Given the description of an element on the screen output the (x, y) to click on. 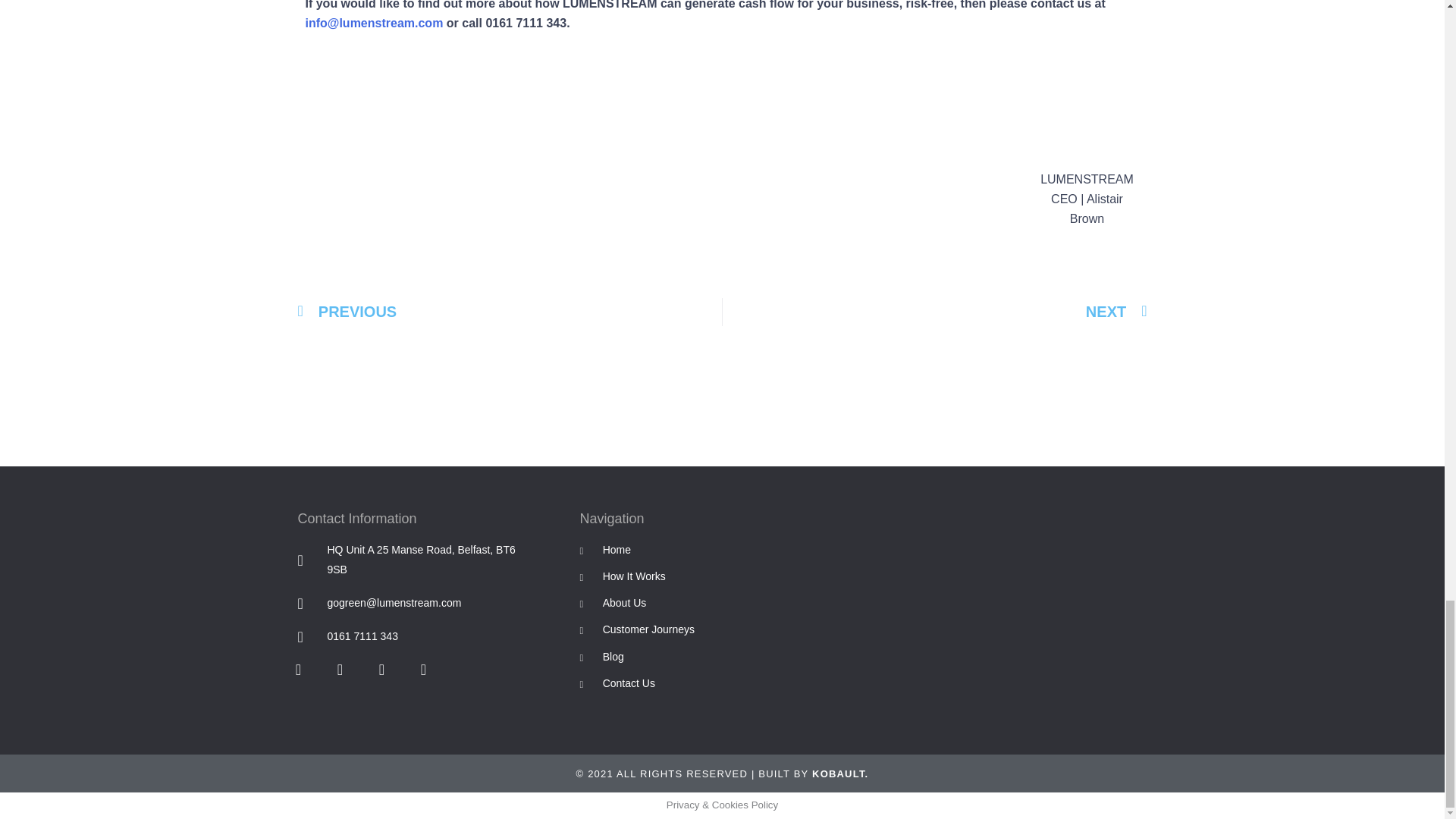
PREVIOUS (509, 311)
0161 7111 343 (417, 637)
How It Works (639, 577)
Contact Us (639, 683)
Customer Journeys (639, 629)
About Us (639, 603)
Blog (639, 657)
HQ Unit A 25 Manse Road, Belfast, BT6 9SB (417, 559)
Home (639, 550)
KOBAULT. (839, 773)
